Given the description of an element on the screen output the (x, y) to click on. 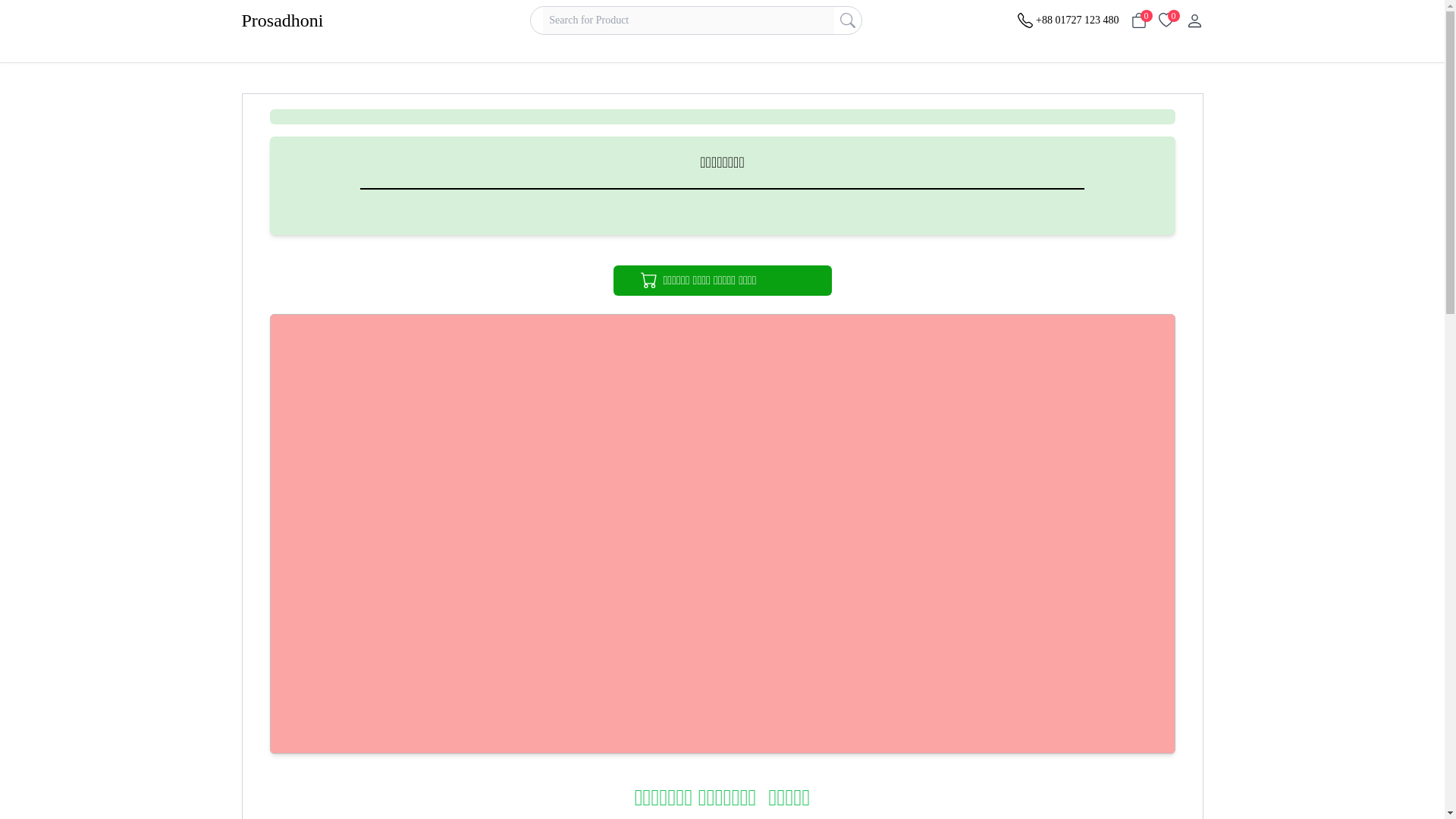
0 (1165, 20)
Prosadhoni (307, 20)
0 (1139, 20)
